Given the description of an element on the screen output the (x, y) to click on. 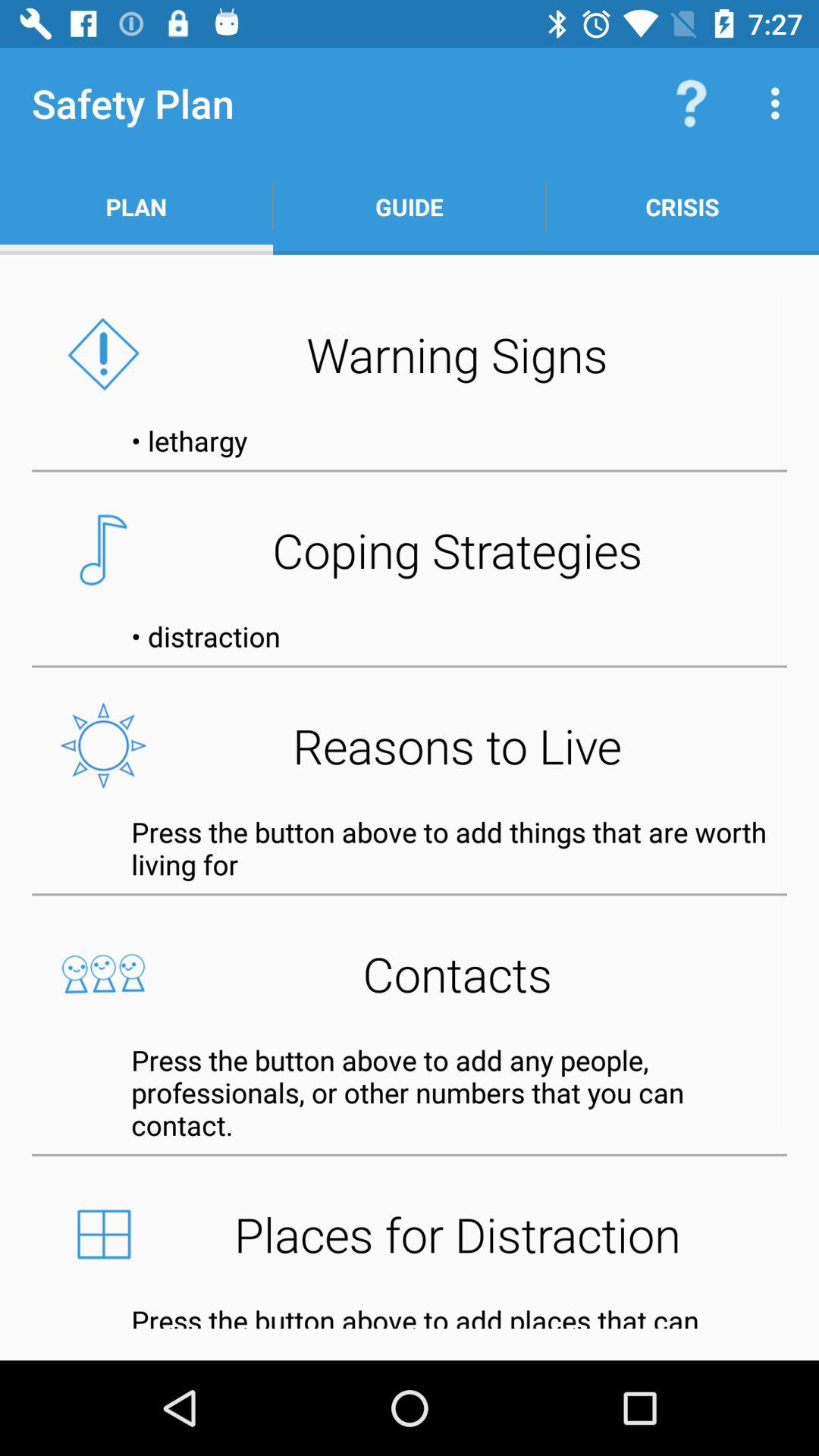
open item next to guide (691, 103)
